Given the description of an element on the screen output the (x, y) to click on. 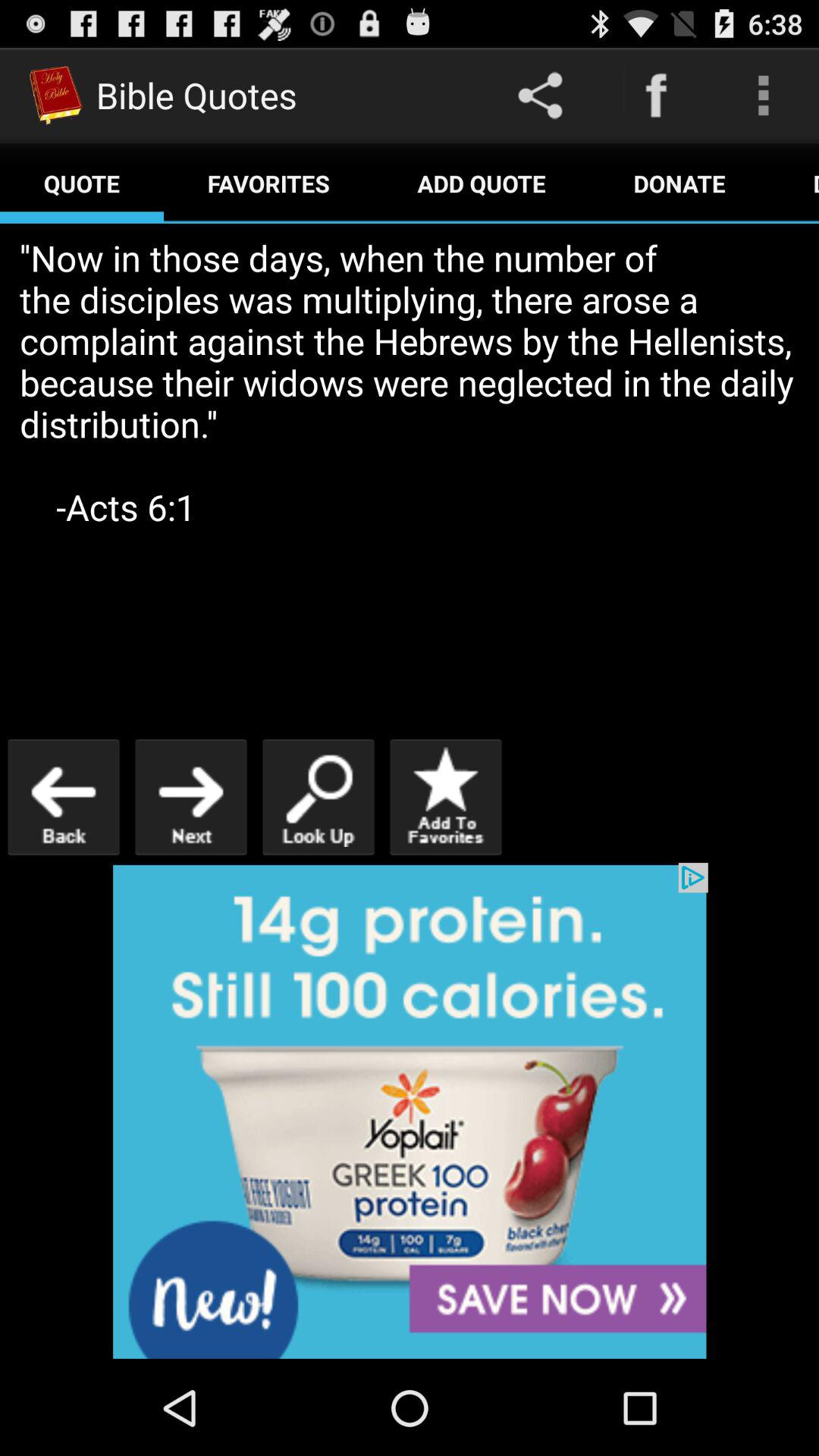
add to favorites (445, 796)
